Given the description of an element on the screen output the (x, y) to click on. 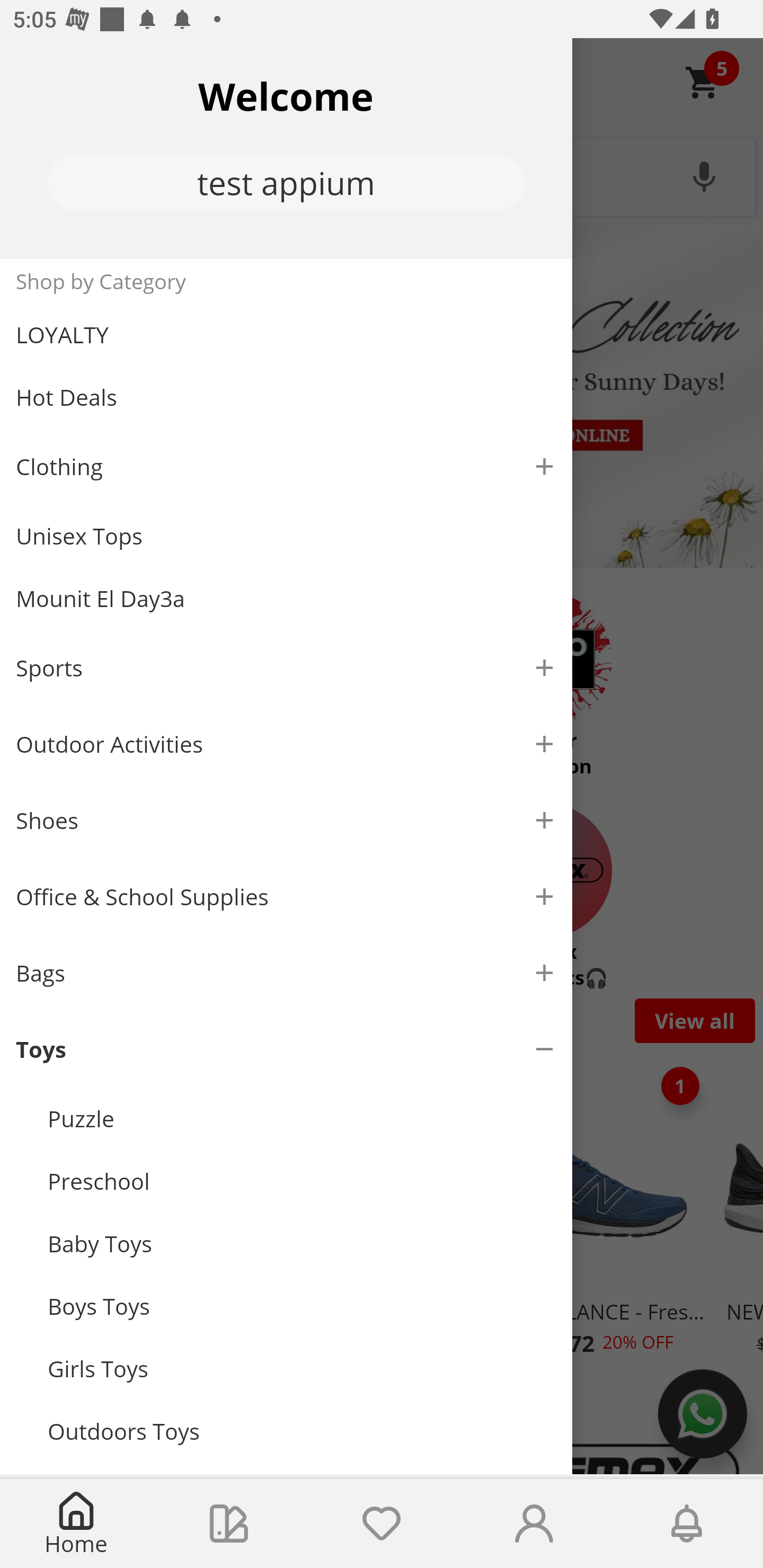
Welcome test appium (286, 147)
What are you looking for? (381, 175)
LOYALTY (286, 334)
Hot Deals (286, 396)
Clothing (286, 466)
Unisex Tops (286, 535)
Mounit El Day3a (286, 598)
Sports (286, 667)
Outdoor Activities (286, 743)
Shoes (286, 820)
Office & School Supplies (286, 896)
Bags (286, 972)
Puzzle (302, 1118)
Preschool (302, 1180)
Baby Toys (302, 1243)
Boys Toys (302, 1305)
Girls Toys (302, 1368)
Outdoors Toys (302, 1431)
Collections (228, 1523)
Wishlist (381, 1523)
Account (533, 1523)
Notifications (686, 1523)
